Given the description of an element on the screen output the (x, y) to click on. 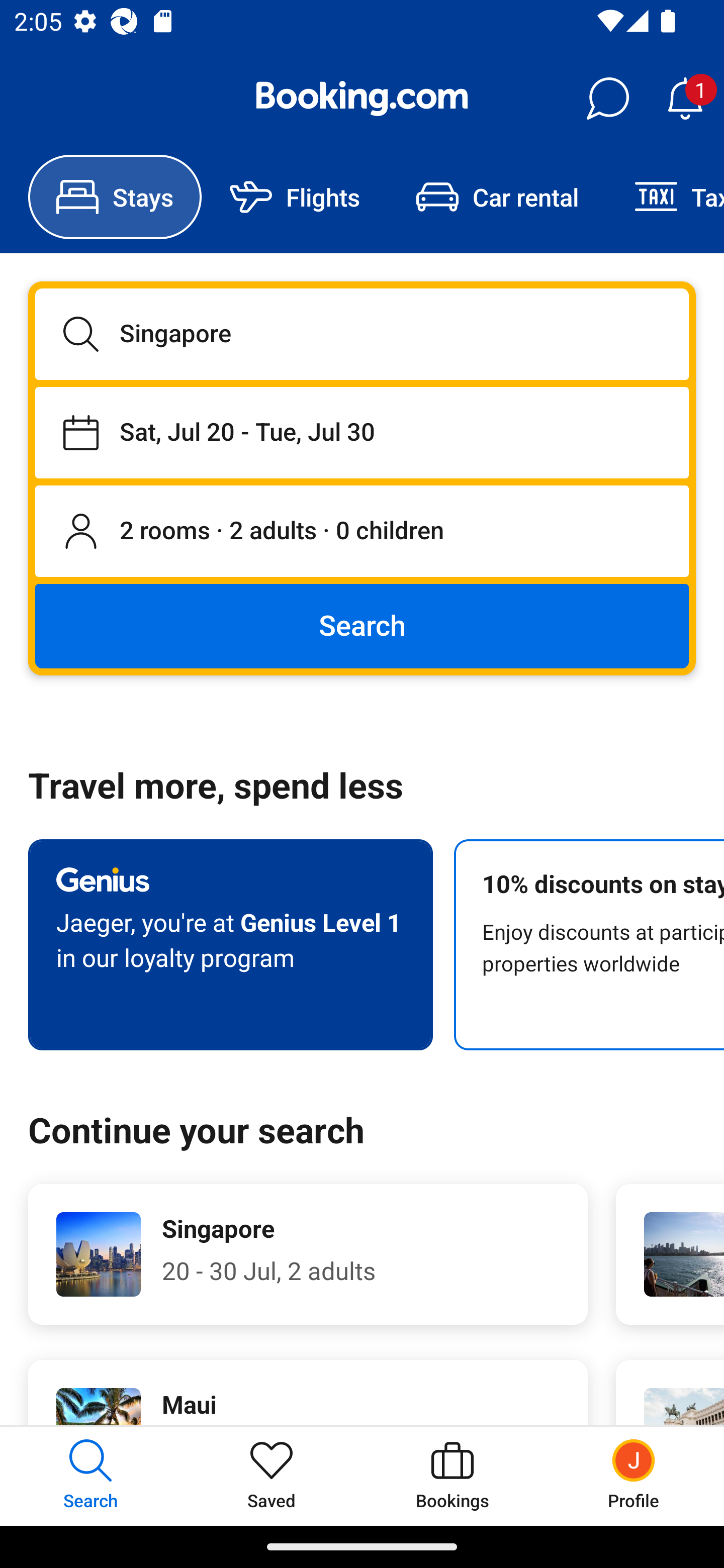
Messages (607, 98)
Notifications (685, 98)
Stays (114, 197)
Flights (294, 197)
Car rental (497, 197)
Taxi (665, 197)
Singapore (361, 333)
Staying from Sat, Jul 20 until Tue, Jul 30 (361, 432)
2 rooms, 2 adults, 0 children (361, 531)
Search (361, 625)
Singapore 20 - 30 Jul, 2 adults (307, 1253)
Saved (271, 1475)
Bookings (452, 1475)
Profile (633, 1475)
